Given the description of an element on the screen output the (x, y) to click on. 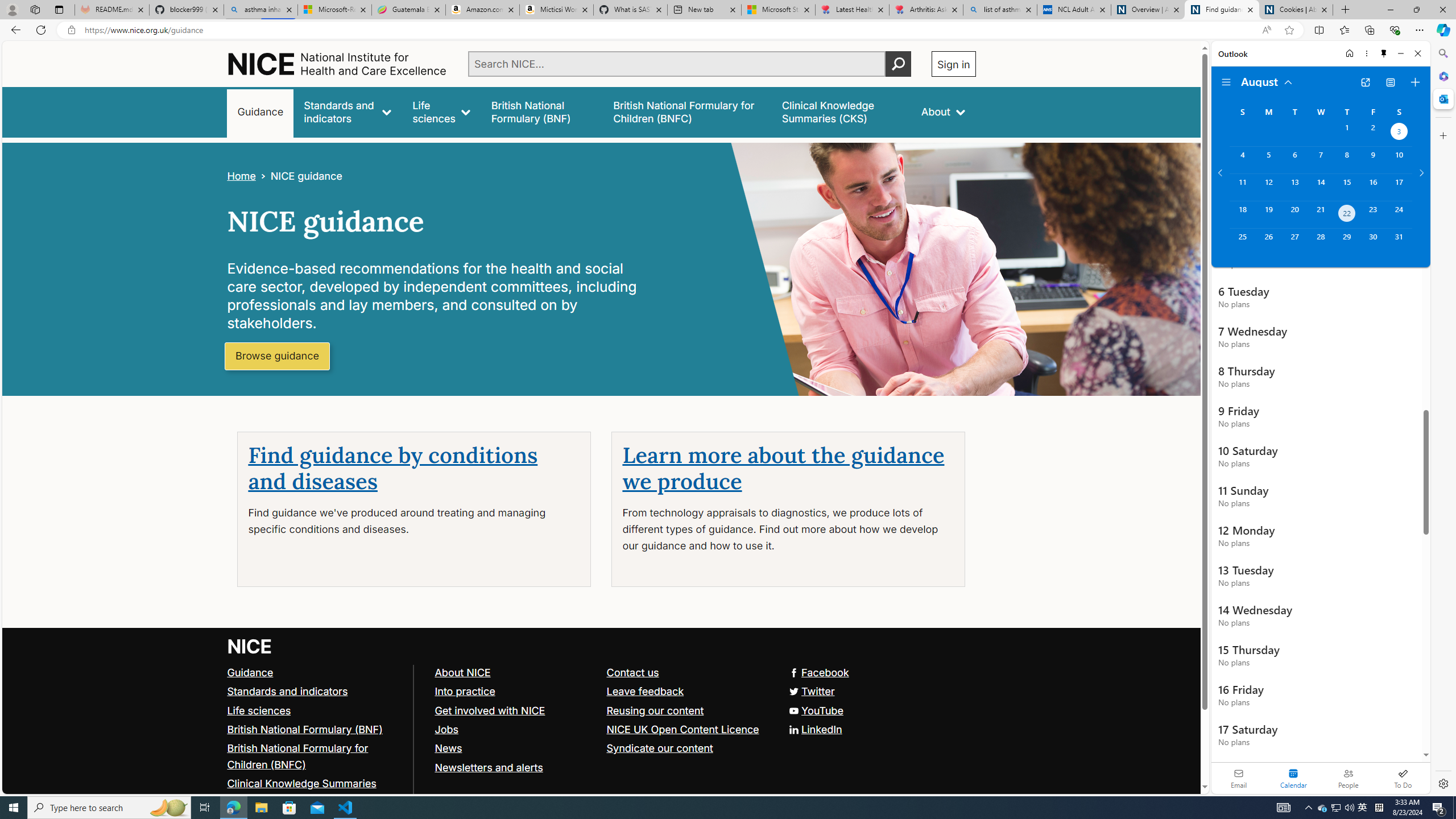
Monday, August 26, 2024.  (1268, 241)
Create event (1414, 82)
Thursday, August 22, 2024. Today.  (1346, 214)
Wednesday, August 28, 2024.  (1320, 241)
Get involved with NICE (514, 710)
